Given the description of an element on the screen output the (x, y) to click on. 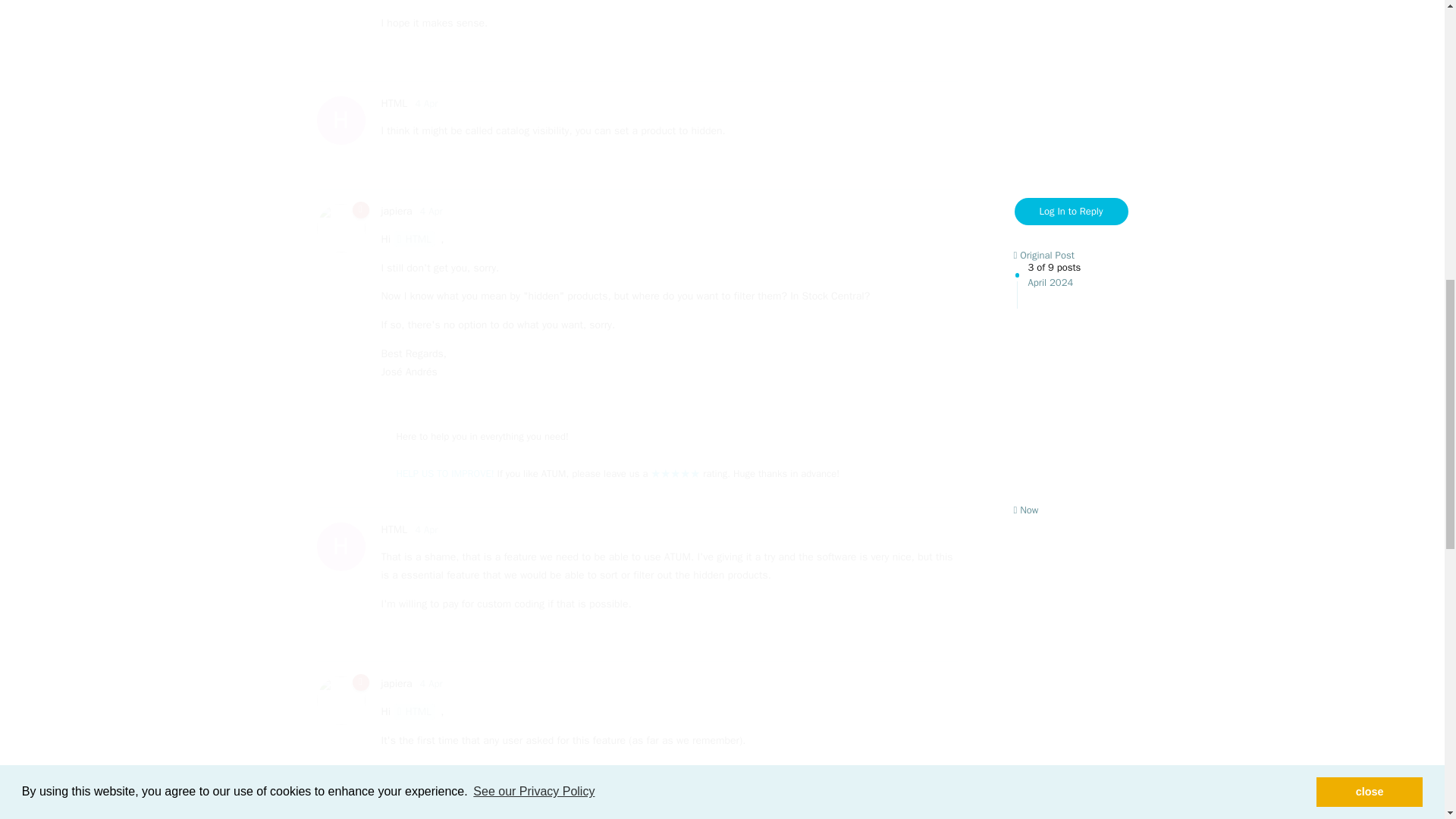
HELP US TO IMPROVE! (393, 103)
4 Apr (444, 472)
Thursday, April 4, 2024 5:43 PM (431, 210)
4 Apr (431, 210)
4 Apr (393, 529)
japiera (426, 529)
4 Apr (431, 683)
HTML (396, 683)
japiera (426, 103)
Thursday, April 4, 2024 8:25 AM (414, 238)
